Given the description of an element on the screen output the (x, y) to click on. 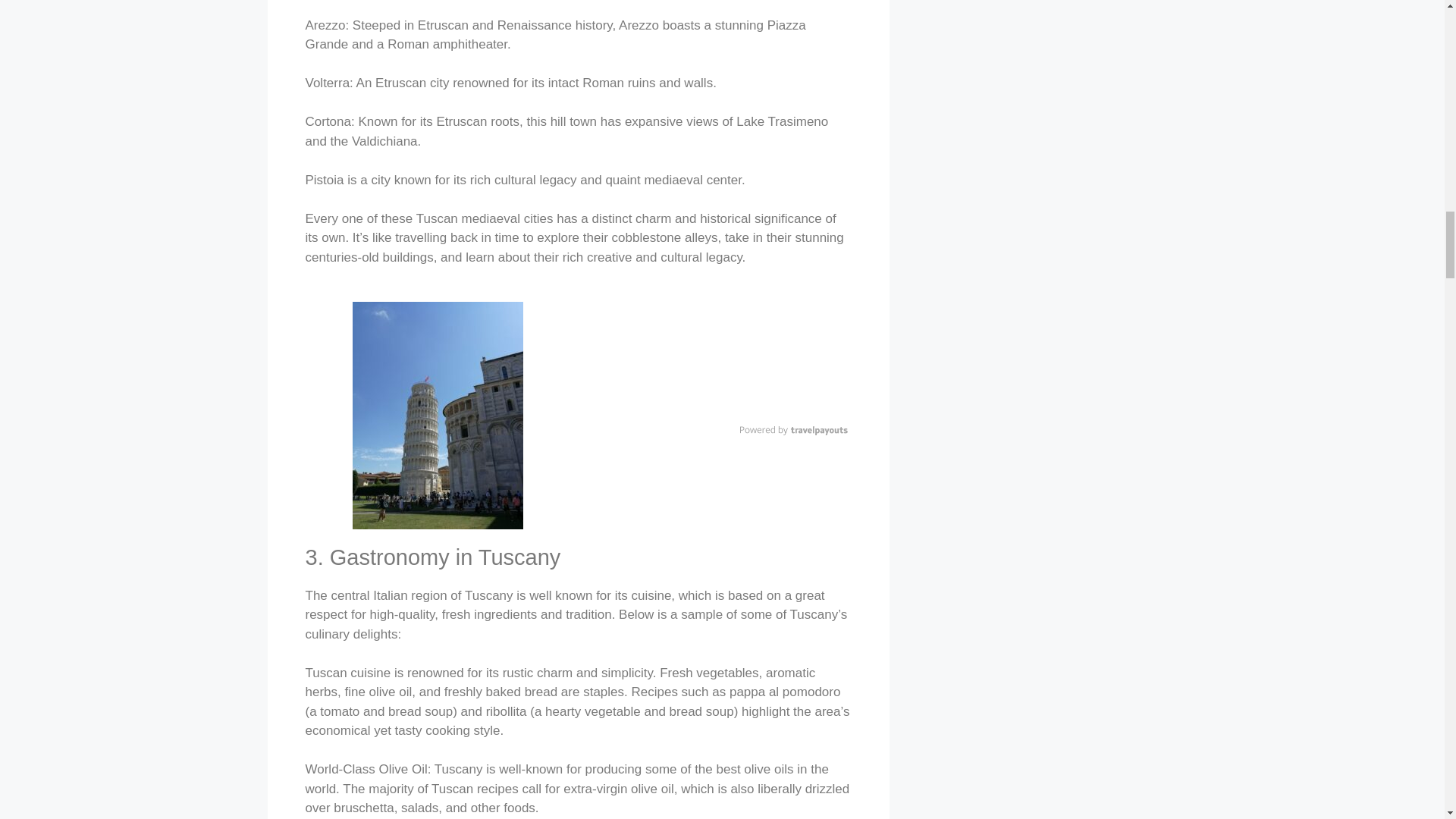
GetYourGuide Widget (717, 358)
